Given the description of an element on the screen output the (x, y) to click on. 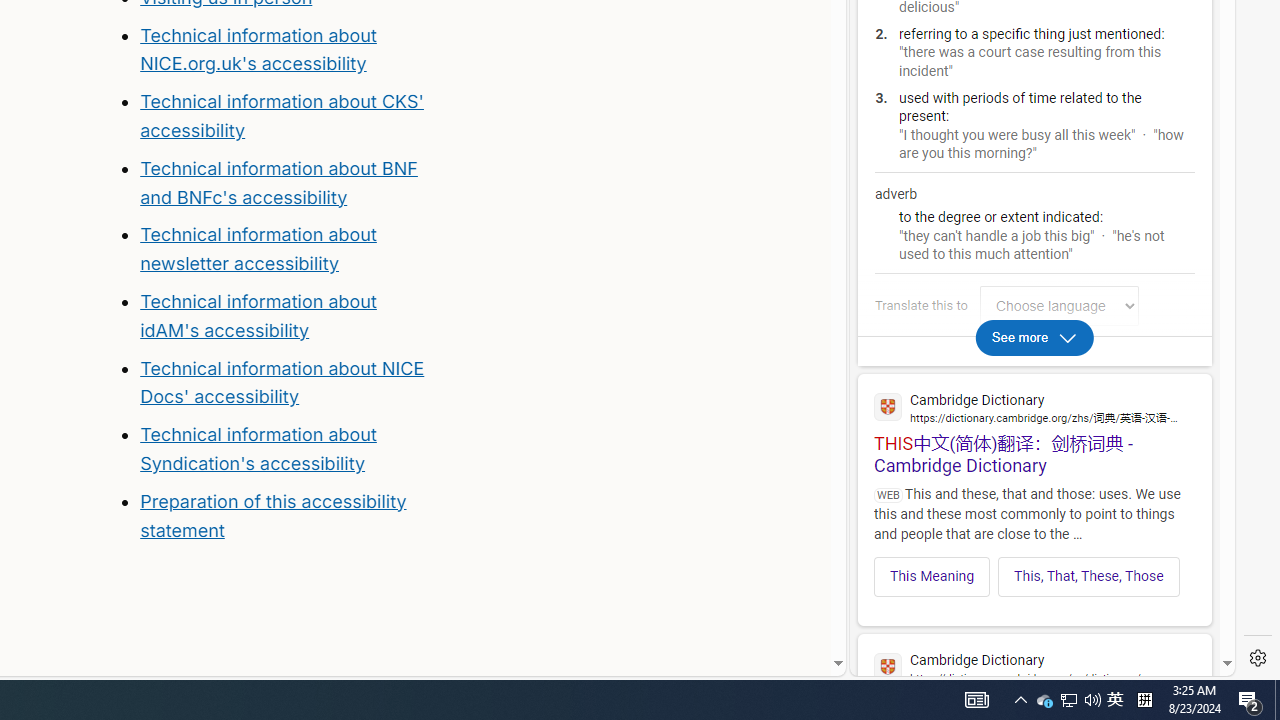
Link for logging (1064, 305)
This Meaning (932, 575)
Technical information about newsletter accessibility (258, 249)
Cambridge Dictionary (1034, 666)
This MeaningThis, That, These, Those (1034, 570)
